Given the description of an element on the screen output the (x, y) to click on. 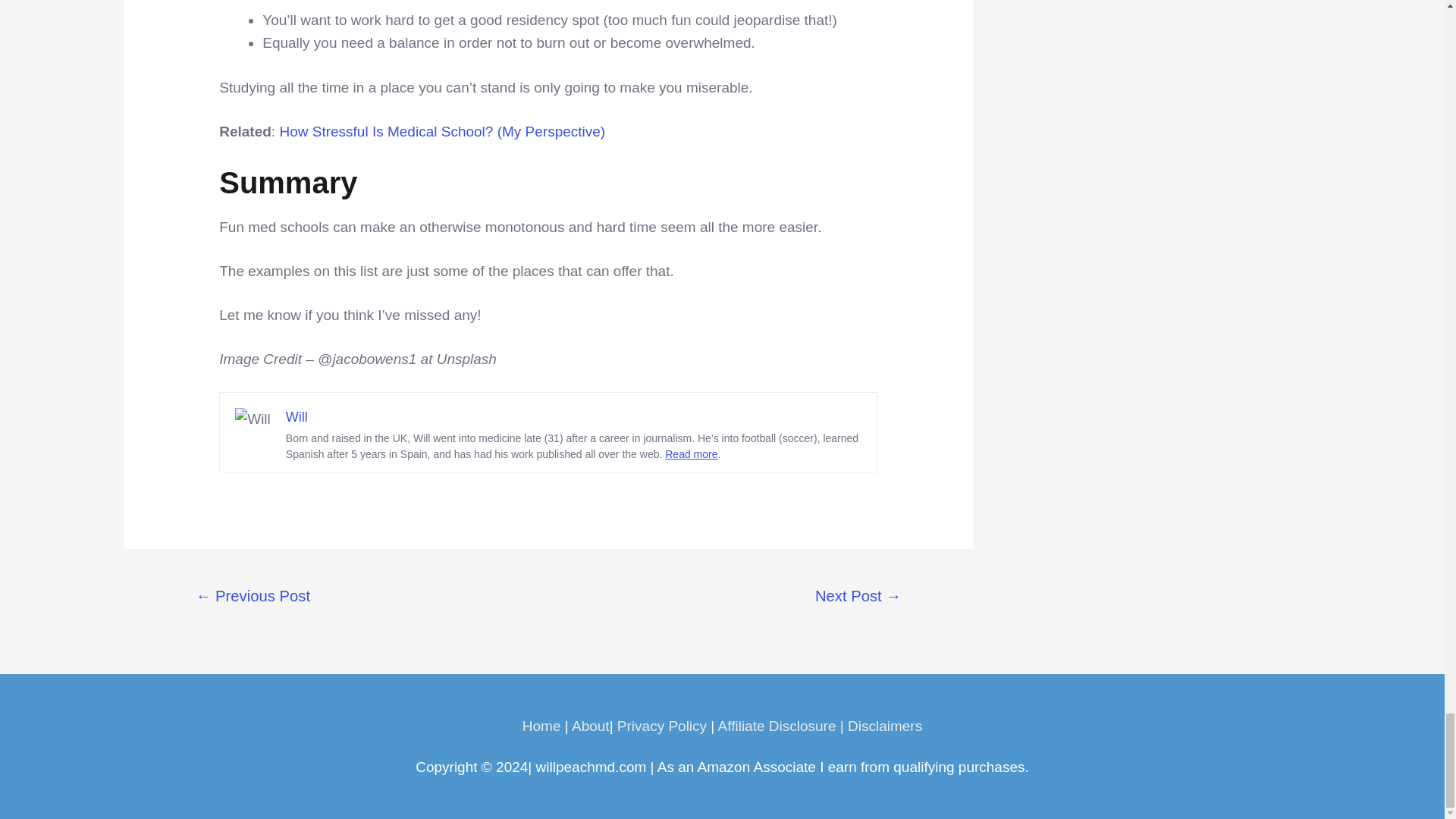
Home (541, 725)
Will (296, 417)
Read more (691, 453)
